Given the description of an element on the screen output the (x, y) to click on. 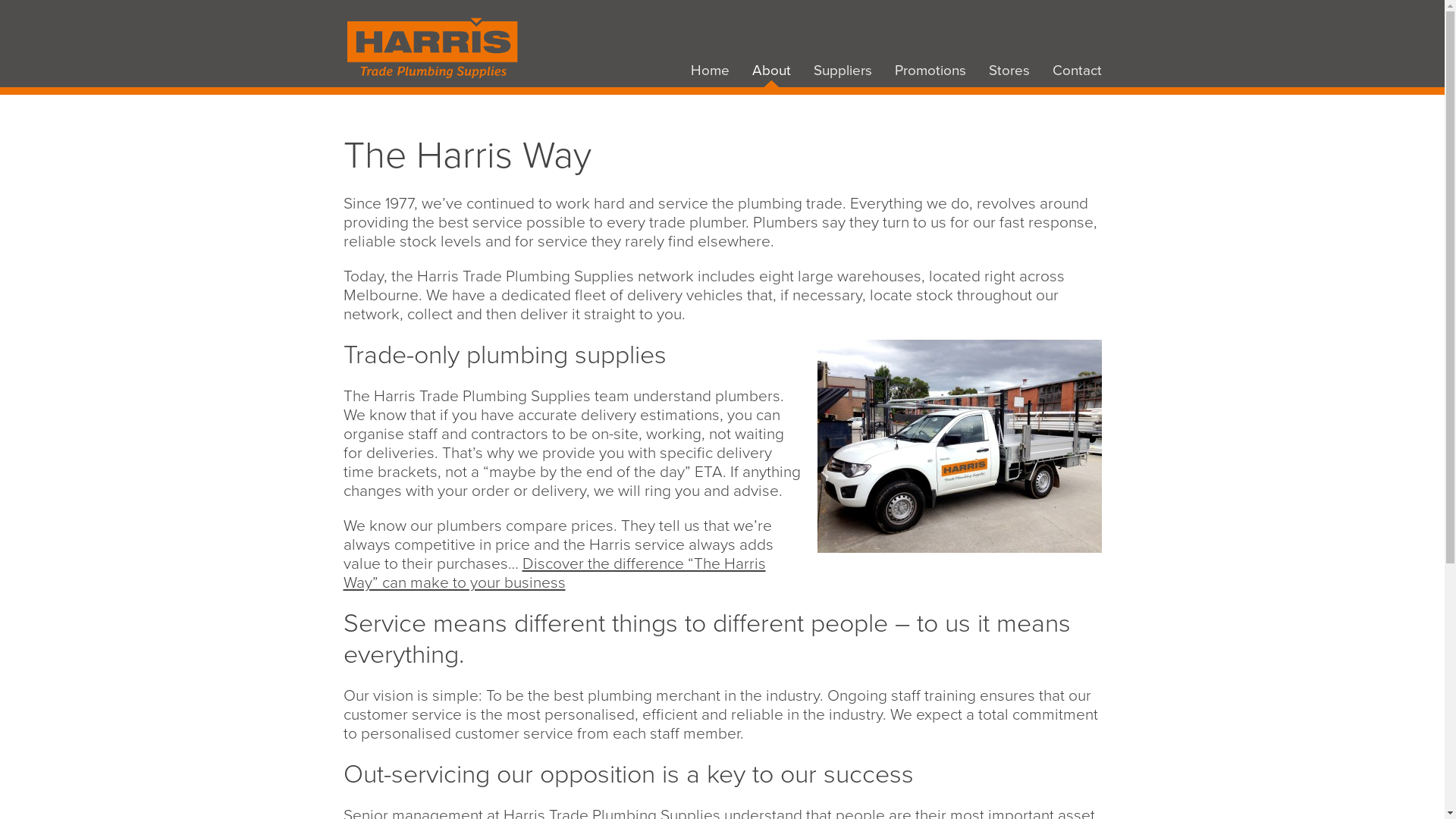
About Element type: text (771, 70)
Harris Trade home Element type: hover (432, 75)
Promotions Element type: text (930, 70)
Stores Element type: text (1008, 70)
Contact Element type: text (1076, 70)
Home Element type: text (709, 70)
Suppliers Element type: text (841, 70)
